Given the description of an element on the screen output the (x, y) to click on. 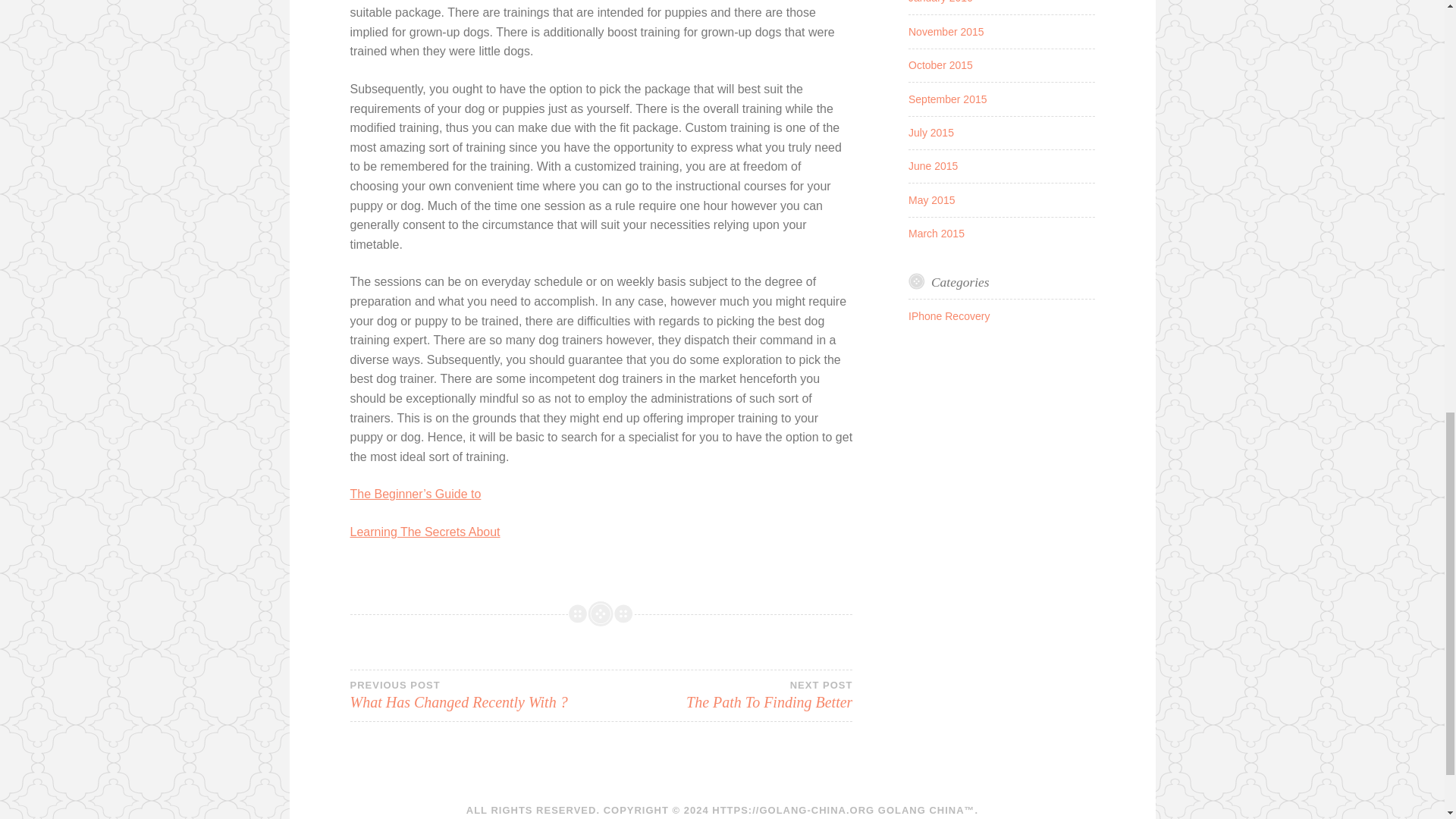
July 2015 (475, 694)
March 2015 (930, 132)
Learning The Secrets About (935, 233)
January 2016 (726, 694)
October 2015 (425, 531)
June 2015 (940, 2)
IPhone Recovery (940, 64)
May 2015 (933, 165)
November 2015 (949, 316)
September 2015 (931, 200)
